Given the description of an element on the screen output the (x, y) to click on. 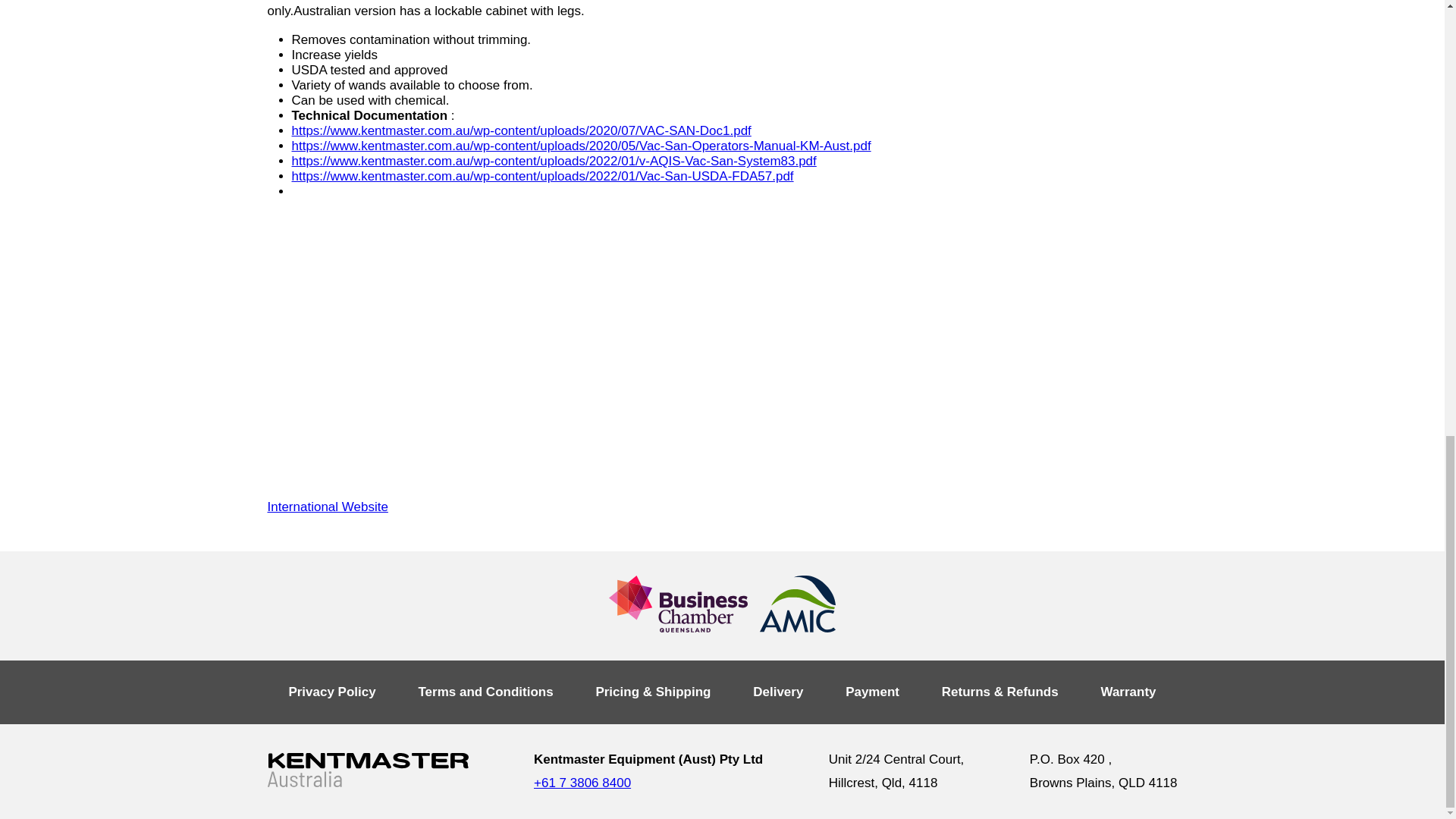
Australian Meat Industry Council (797, 603)
Business Chamber Queensland (678, 603)
Australian Meat Industry Council (797, 605)
Business Chamber Queensland (678, 605)
